Given the description of an element on the screen output the (x, y) to click on. 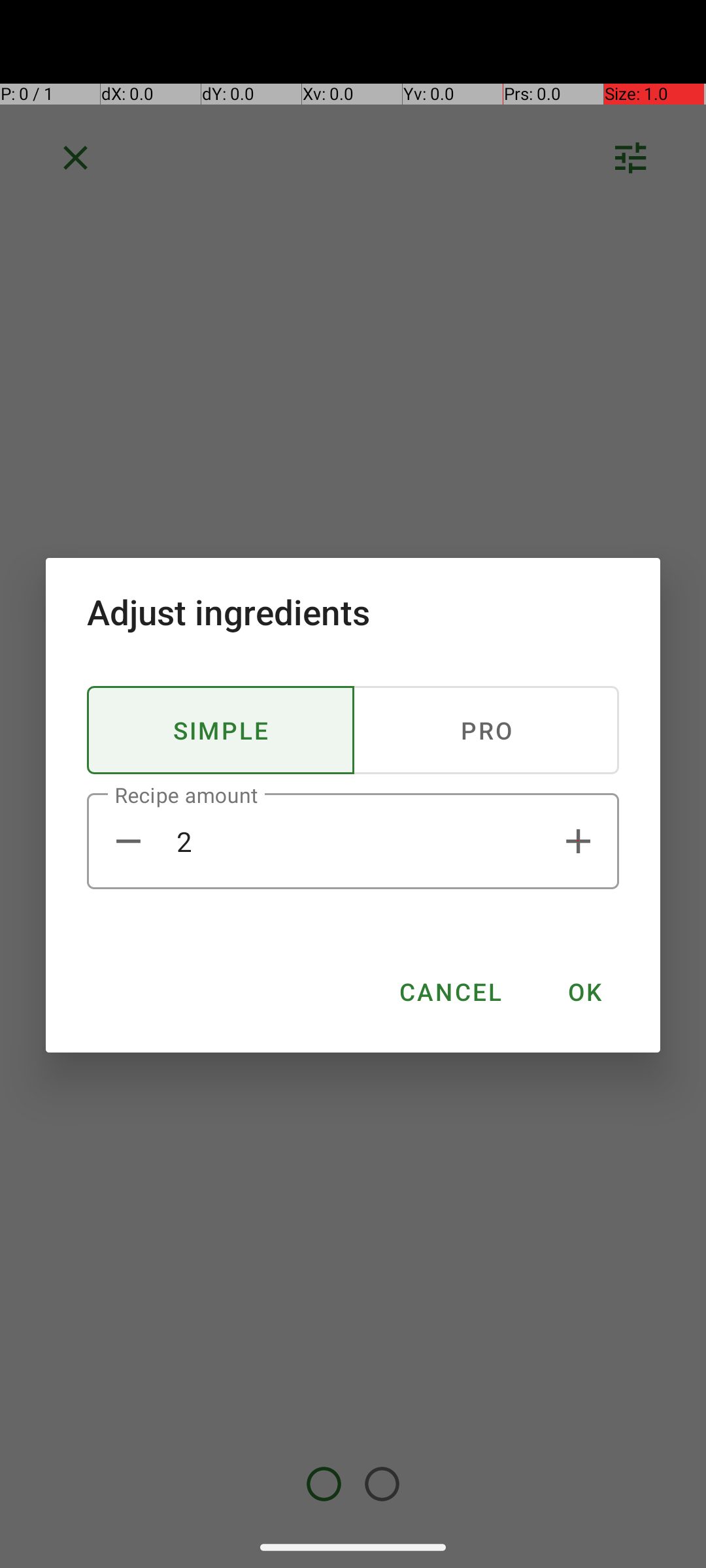
SIMPLE Element type: android.widget.CompoundButton (220, 730)
PRO Element type: android.widget.CompoundButton (485, 730)
